Given the description of an element on the screen output the (x, y) to click on. 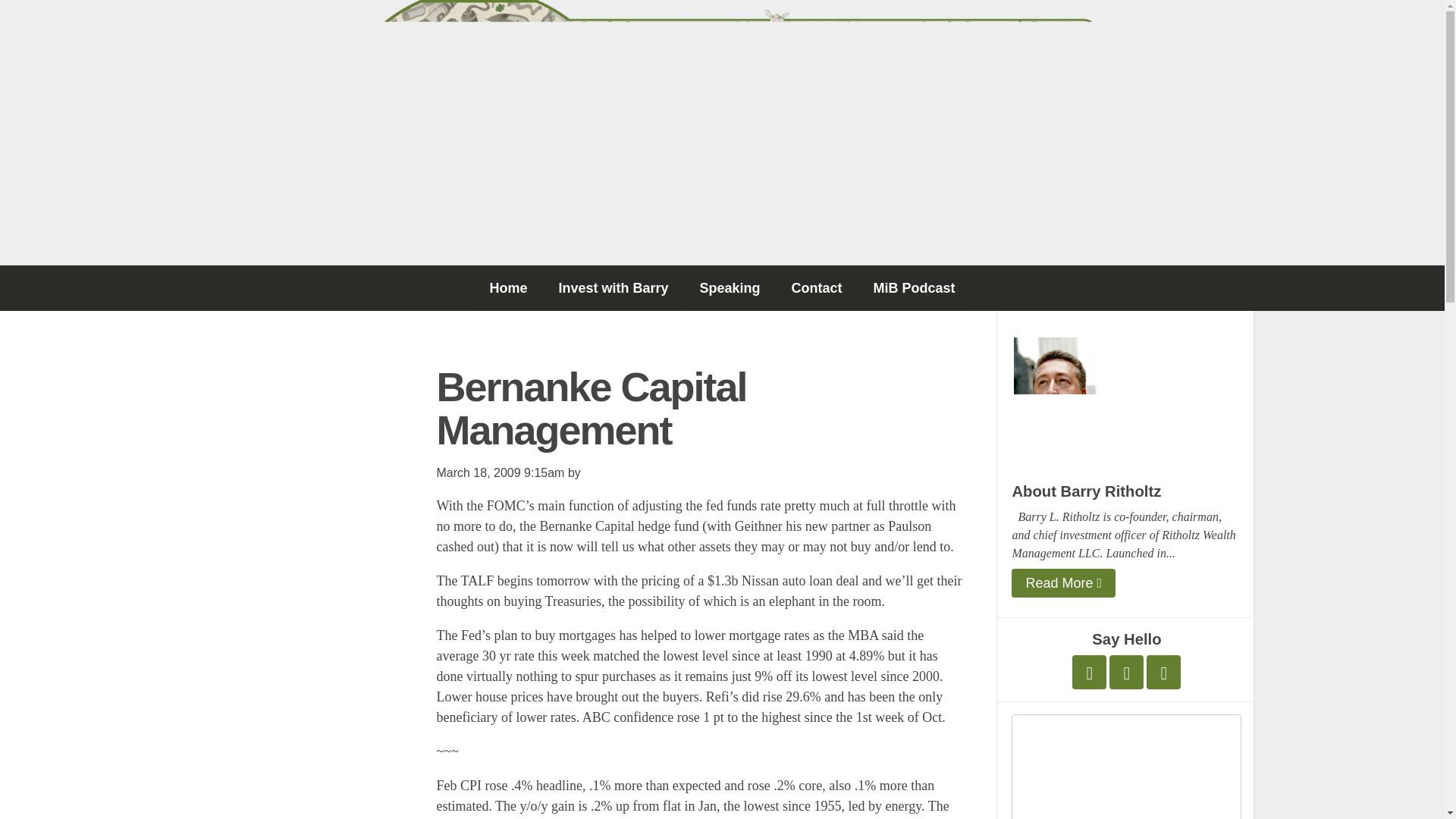
Speaking (729, 288)
LinkedIn (1163, 672)
Home (508, 288)
MiB Podcast (914, 288)
Facebook (1125, 672)
Twitter (1088, 672)
Invest with Barry (612, 288)
Contact (816, 288)
Read More (1063, 582)
